Given the description of an element on the screen output the (x, y) to click on. 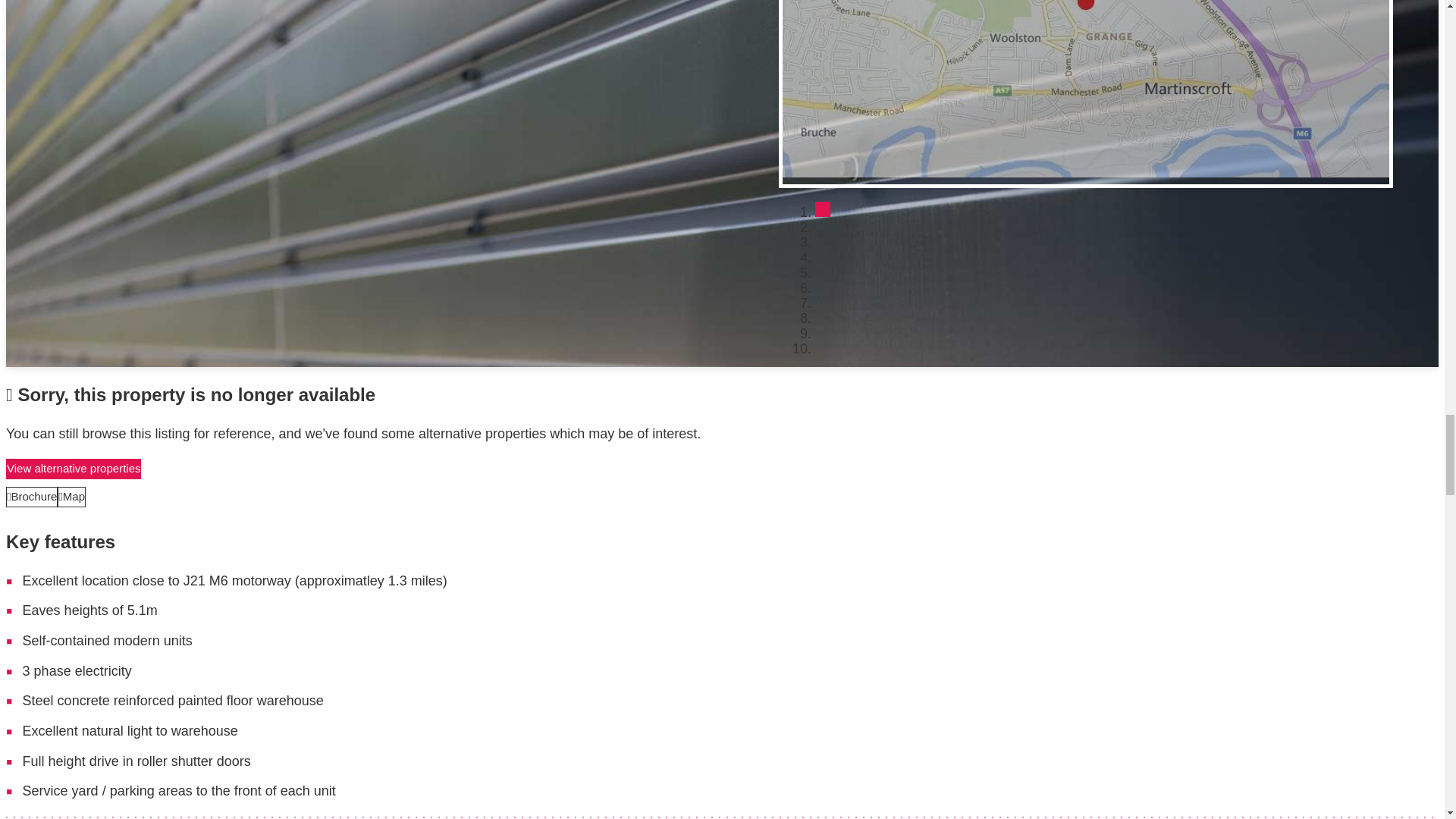
View alternative properties (73, 468)
Map (71, 496)
Map (71, 496)
View alternative properties (73, 468)
Brochure (31, 496)
Alternative Properties (73, 468)
Map (71, 496)
